Given the description of an element on the screen output the (x, y) to click on. 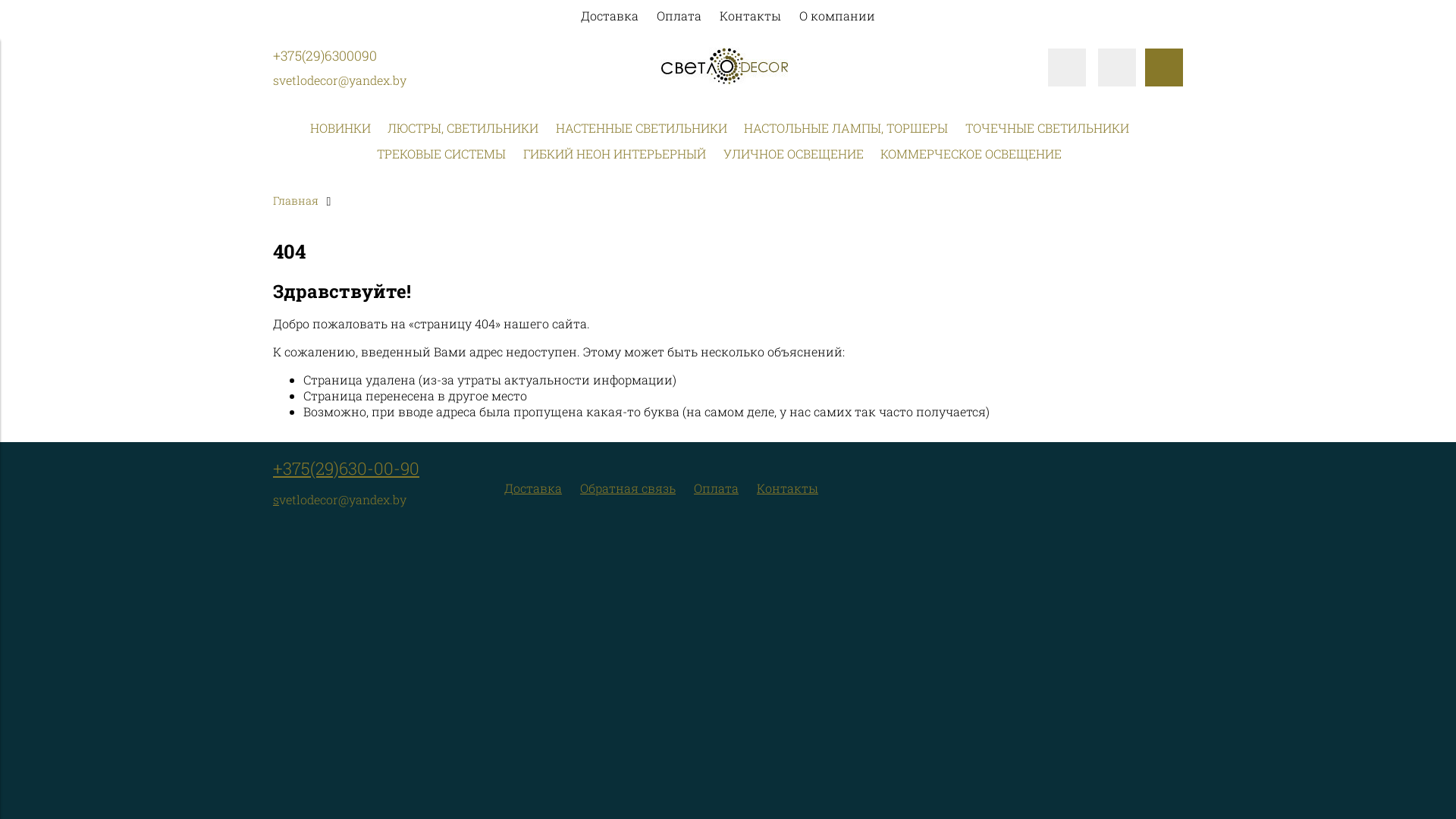
vetlodecor@yandex.by Element type: text (342, 79)
Svetlo Element type: hover (727, 79)
s Element type: text (276, 499)
+375(29)630-00-90 Element type: text (346, 468)
s Element type: text (276, 79)
+375(29)6300090 Element type: text (324, 55)
vetlodecor@yandex.by Element type: text (342, 499)
Svetlo Element type: hover (727, 65)
